Given the description of an element on the screen output the (x, y) to click on. 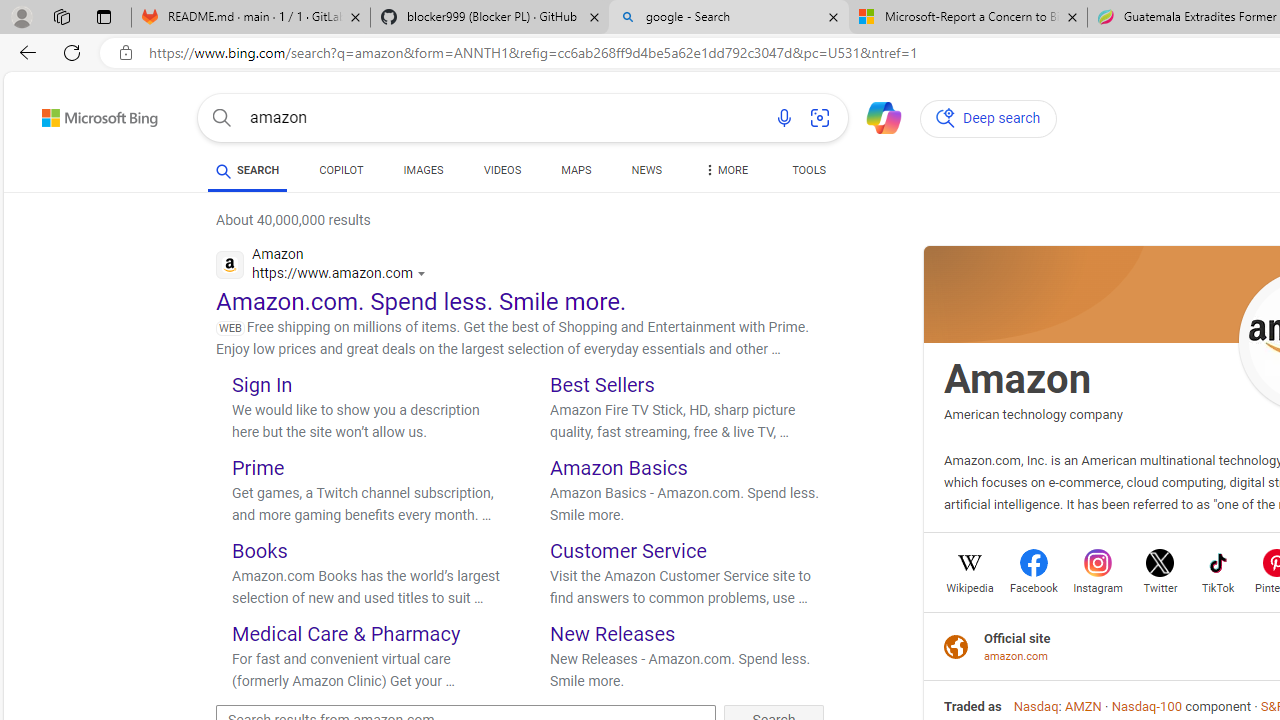
TOOLS (808, 173)
Instagram (1097, 586)
NEWS (646, 170)
Facebook (1033, 586)
Sign In (262, 384)
